Given the description of an element on the screen output the (x, y) to click on. 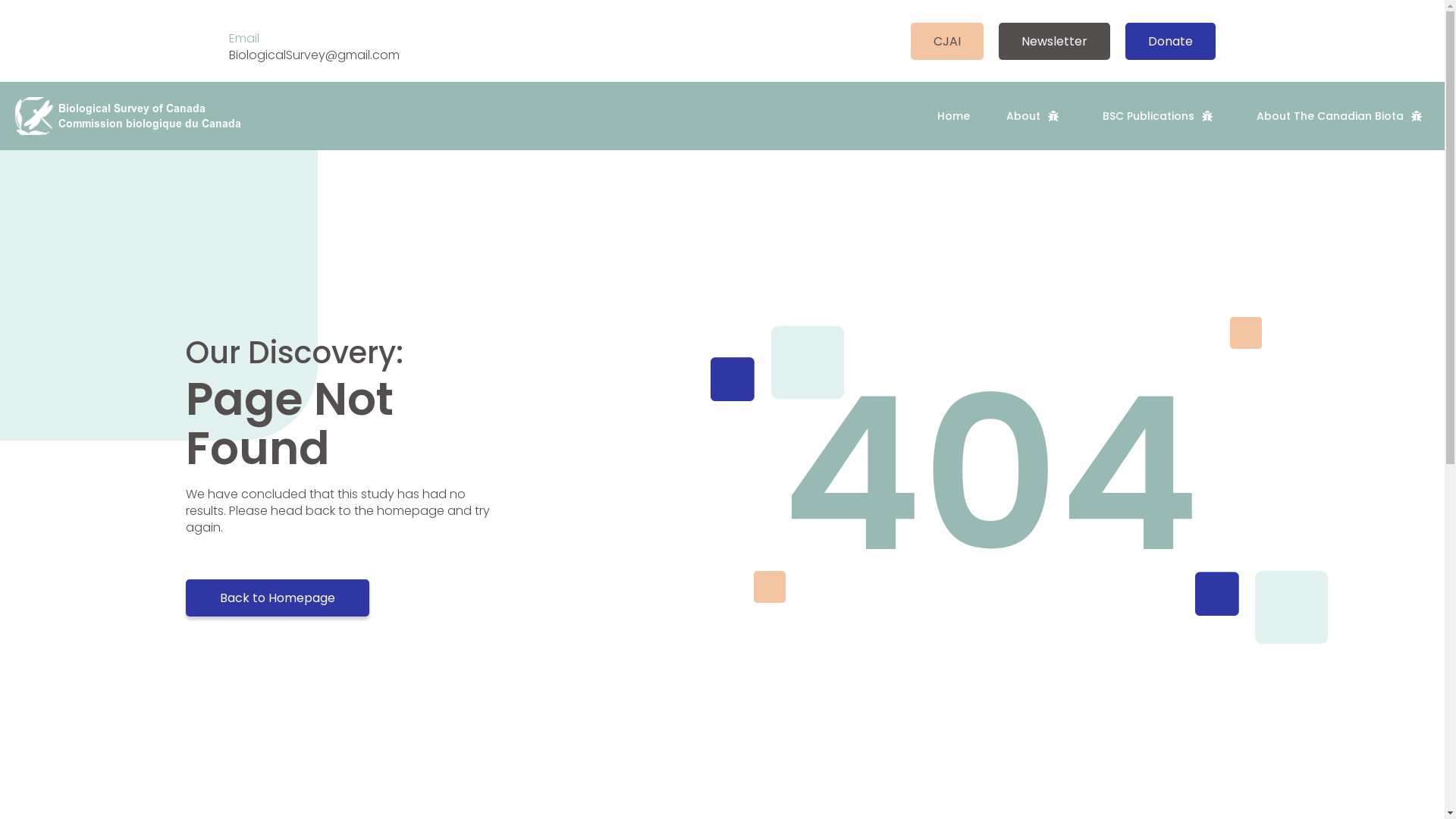
Donate Element type: text (1170, 40)
About Element type: text (1036, 115)
BSC Publications Element type: text (1161, 115)
About The Canadian Biota Element type: text (1342, 115)
Home Element type: text (953, 115)
Newsletter Element type: text (1054, 40)
Back to Homepage Element type: text (277, 597)
CJAI Element type: text (946, 40)
